Given the description of an element on the screen output the (x, y) to click on. 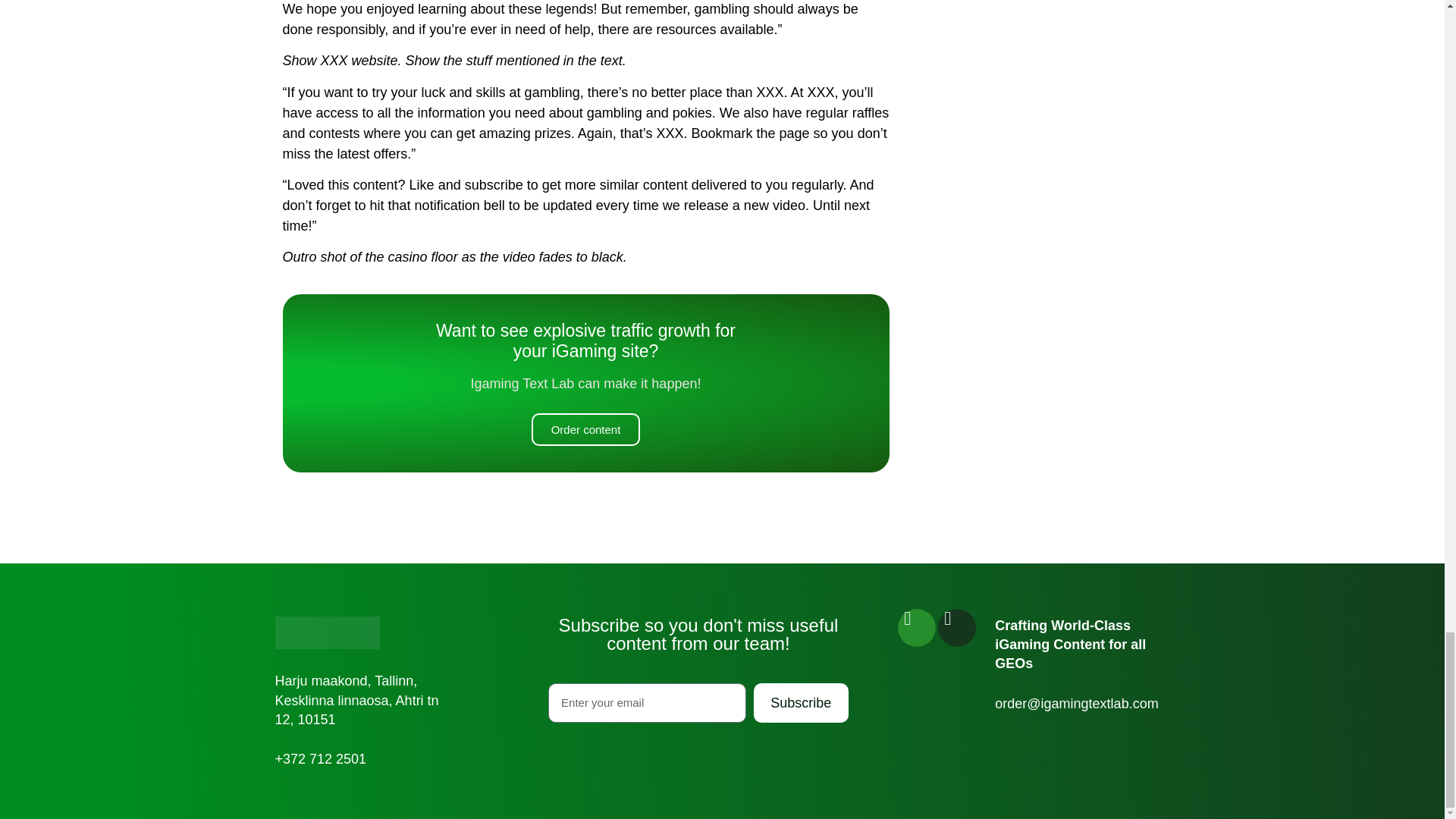
Footer (326, 632)
Order content (585, 429)
Subscribe (801, 702)
